Given the description of an element on the screen output the (x, y) to click on. 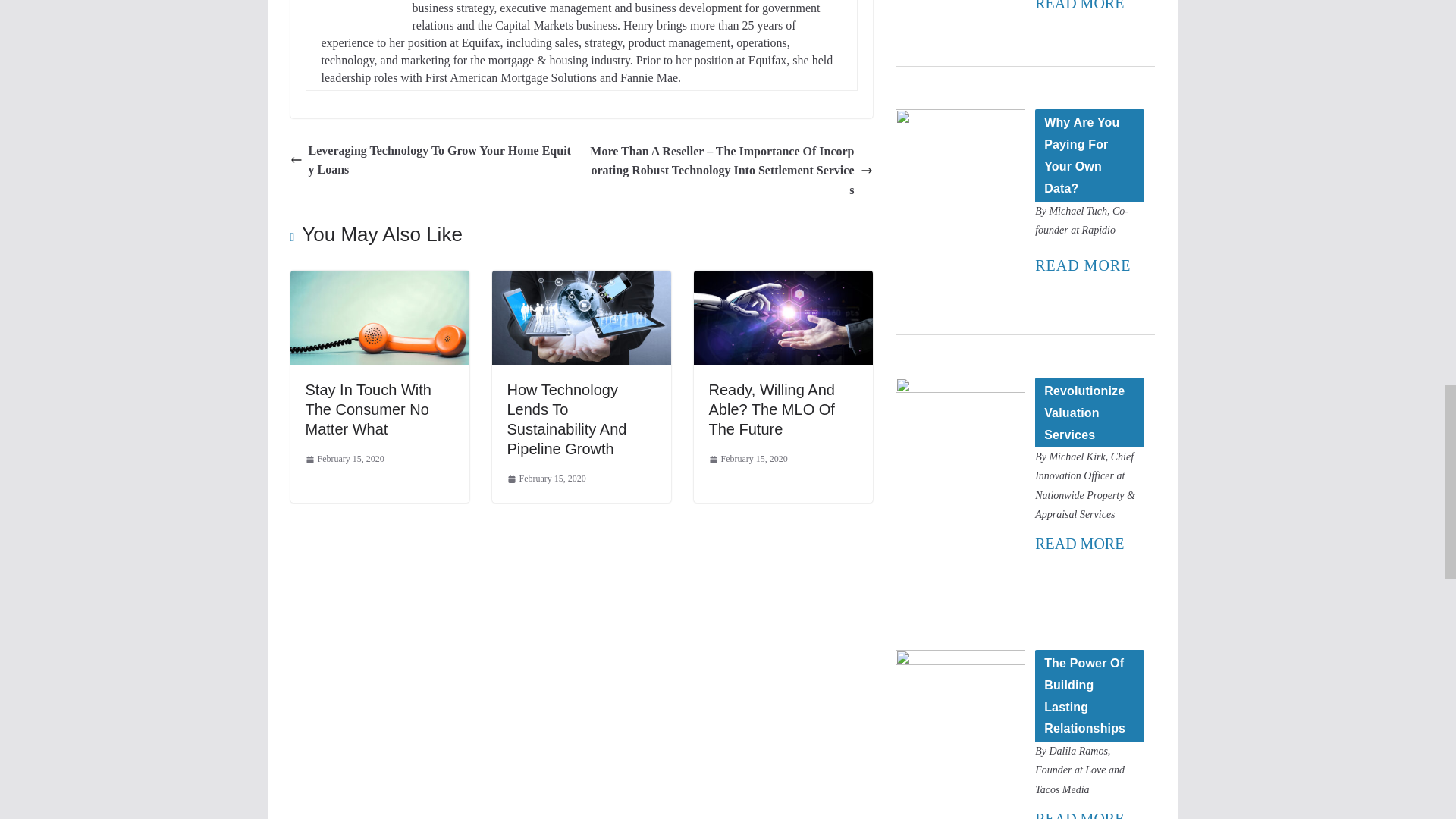
How Technology Lends To Sustainability And Pipeline Growth (580, 280)
Leveraging Technology To Grow Your Home Equity Loans (431, 159)
Stay In Touch With The Consumer No Matter What (367, 409)
9:00 am (344, 459)
Stay In Touch With The Consumer No Matter What (378, 280)
Stay In Touch With The Consumer No Matter What (367, 409)
